Given the description of an element on the screen output the (x, y) to click on. 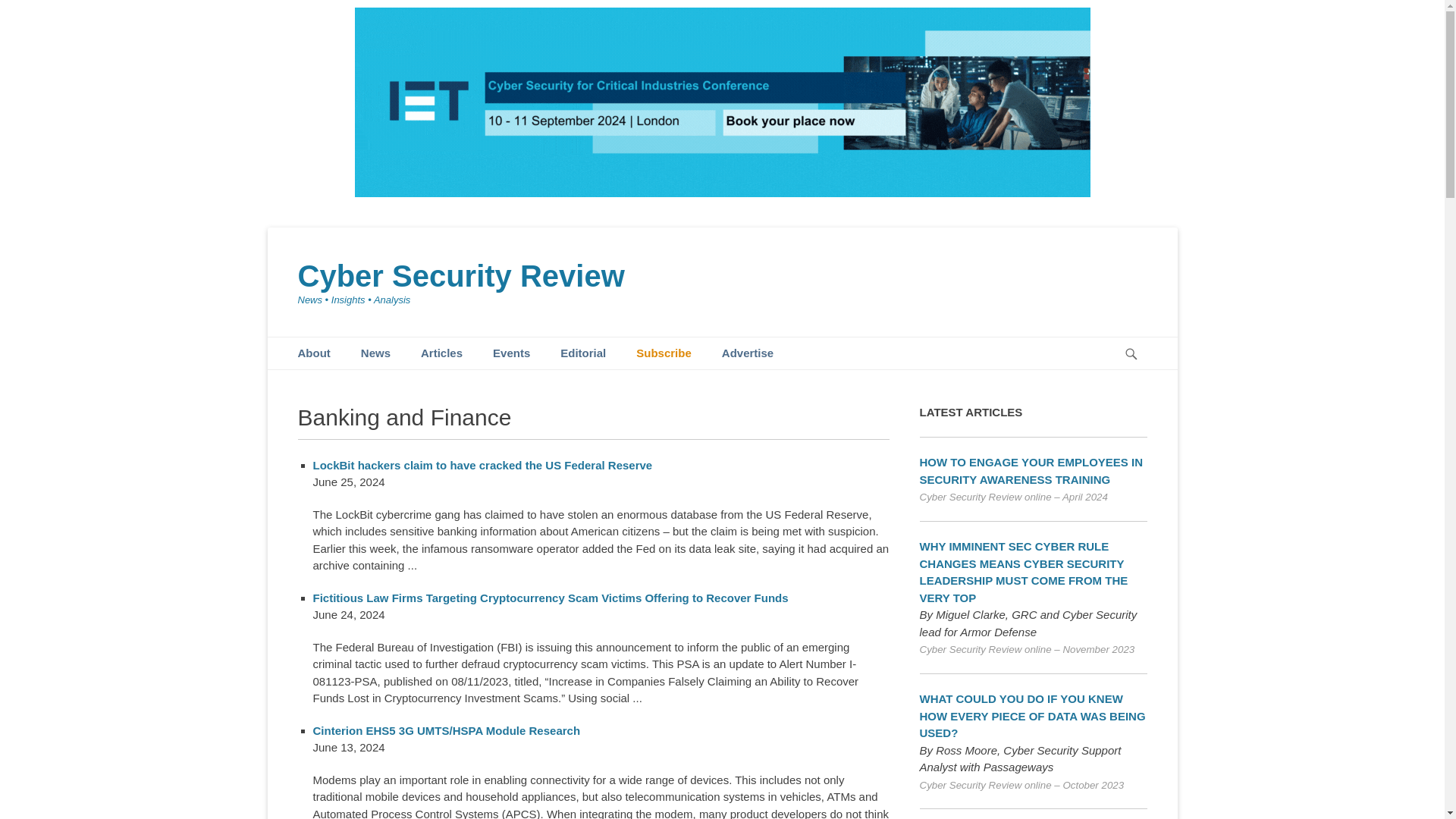
Subscribe (663, 353)
Cyber Security Review (460, 275)
Editorial (582, 353)
News (376, 353)
Articles (441, 353)
Advertise (747, 353)
About (313, 353)
Events (510, 353)
